Given the description of an element on the screen output the (x, y) to click on. 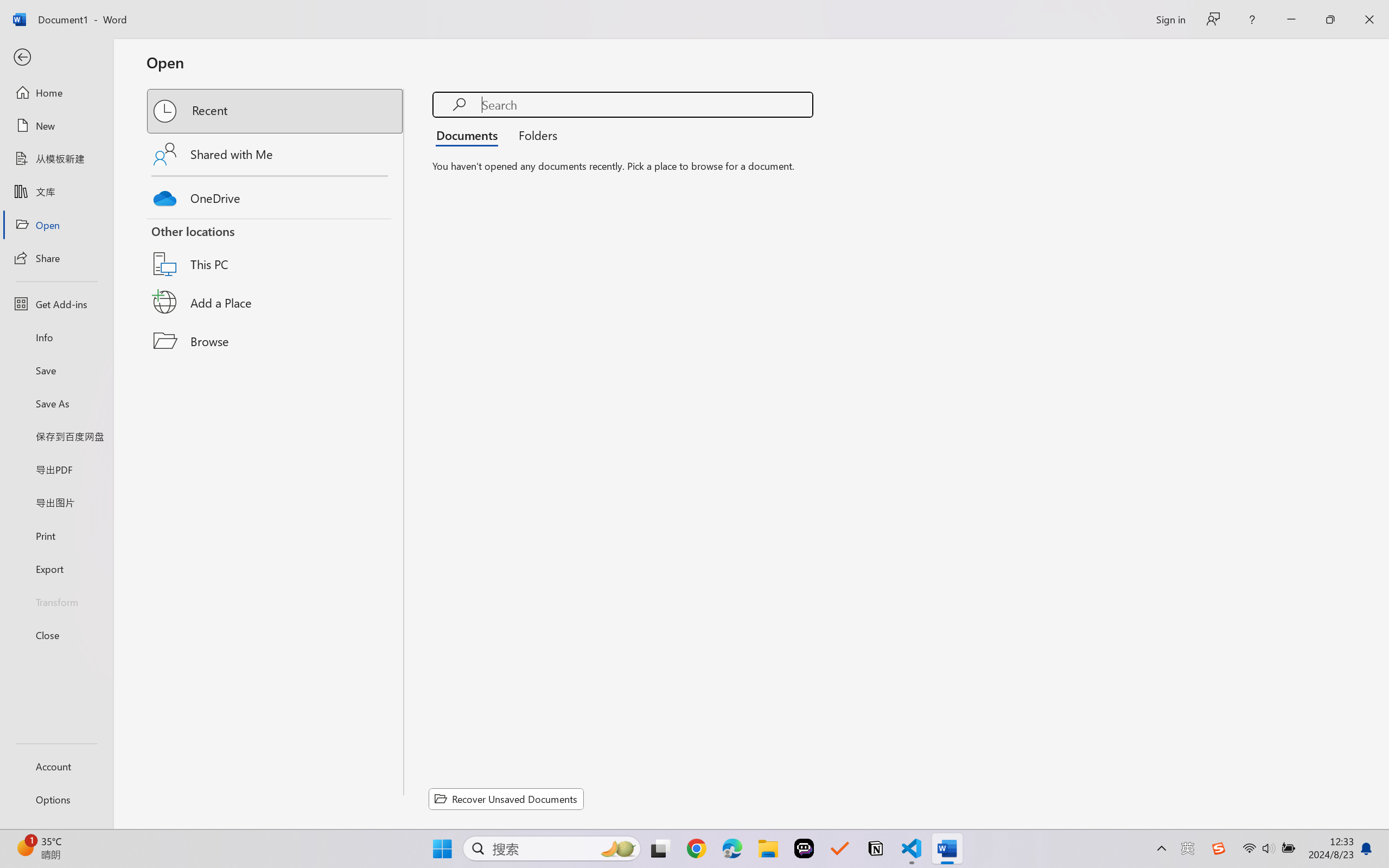
Get Add-ins (56, 303)
Export (56, 568)
Account (56, 765)
New (56, 125)
Back (56, 57)
This PC (275, 249)
Print (56, 535)
